Given the description of an element on the screen output the (x, y) to click on. 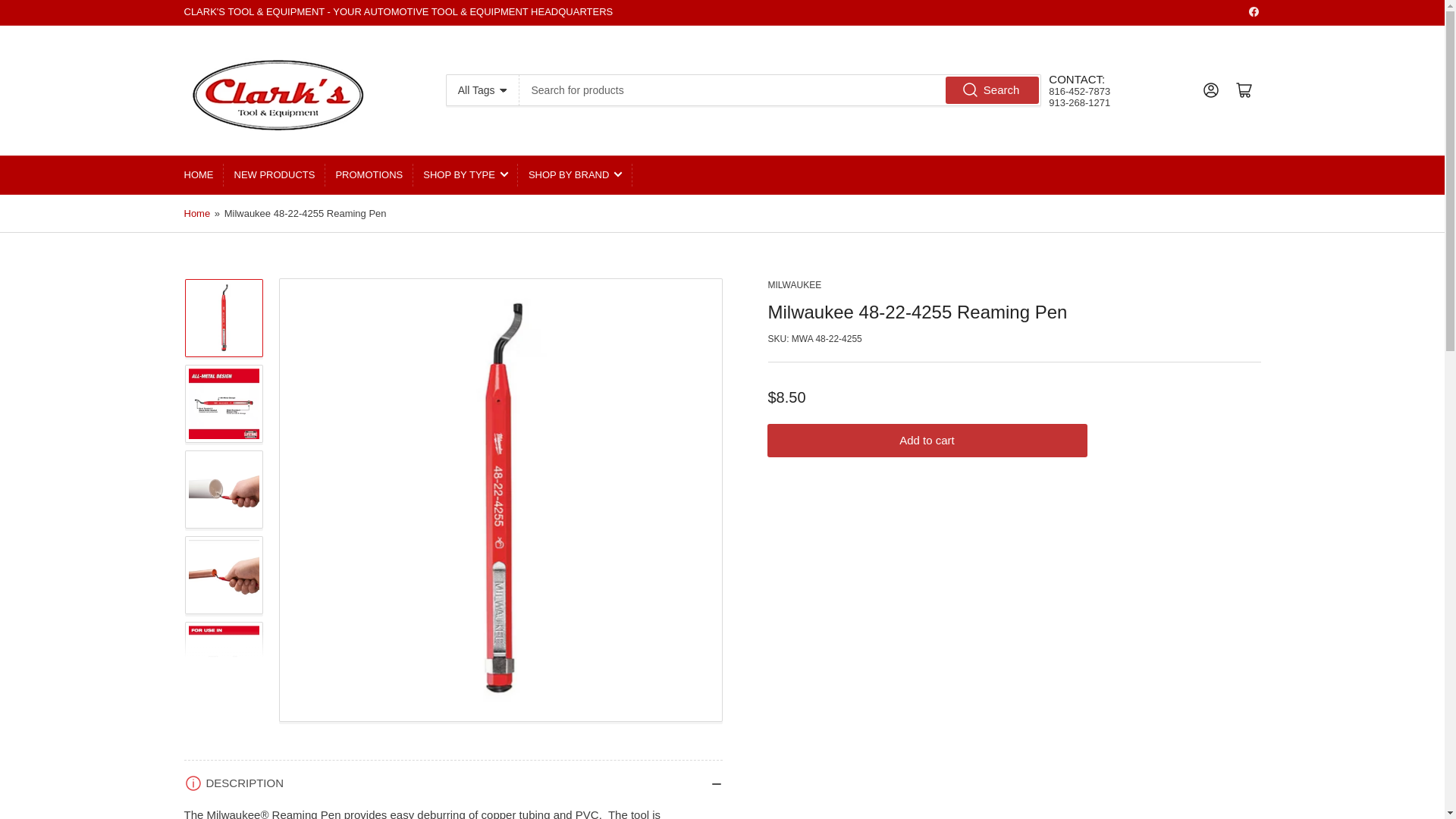
Open mini cart (1243, 90)
Facebook (1253, 11)
Search (992, 89)
Log in (1210, 90)
Milwaukee (794, 284)
